Given the description of an element on the screen output the (x, y) to click on. 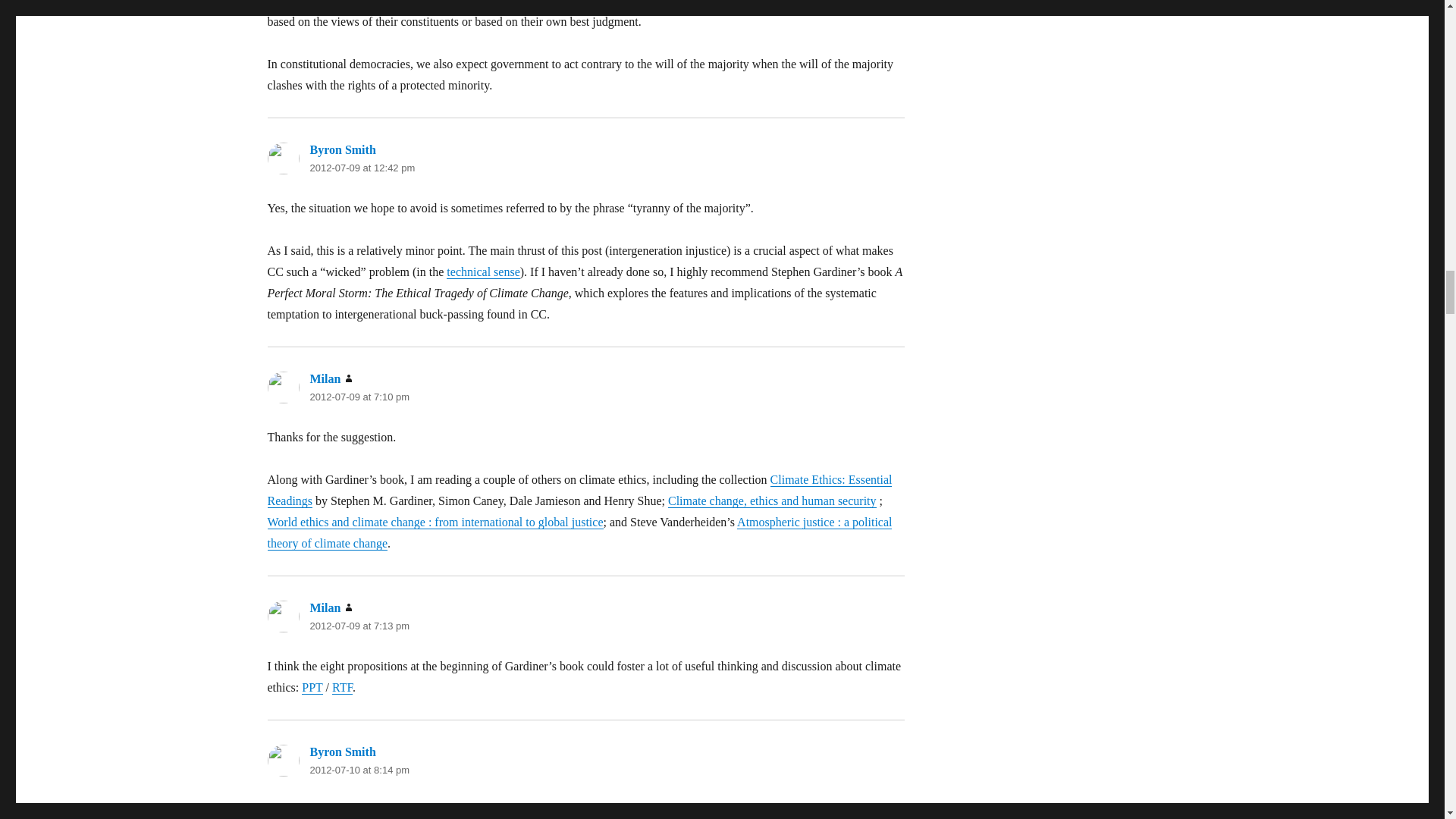
2012-07-09 at 7:13 pm (358, 625)
RTF (341, 686)
Atmospheric justice : a political theory of climate change (578, 532)
2012-07-09 at 12:42 pm (361, 167)
technical sense (482, 271)
Climate Ethics: Essential Readings (578, 489)
Byron Smith (341, 751)
Milan (324, 378)
Climate change, ethics and human security (772, 500)
2012-07-09 at 7:10 pm (358, 396)
Milan (324, 607)
PPT (311, 686)
2012-07-10 at 8:14 pm (358, 769)
Byron Smith (341, 149)
